Given the description of an element on the screen output the (x, y) to click on. 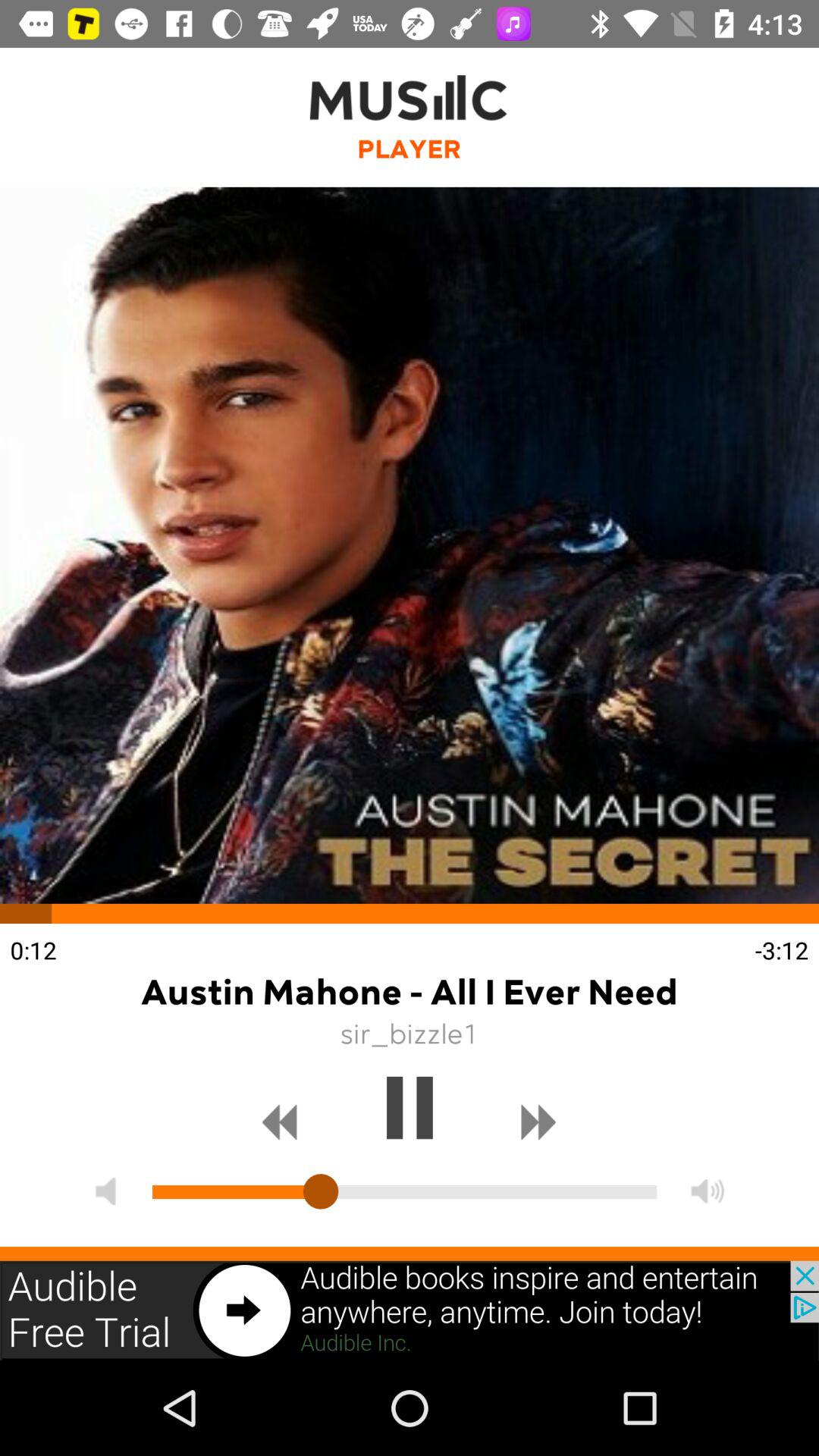
pause song (409, 1108)
